Given the description of an element on the screen output the (x, y) to click on. 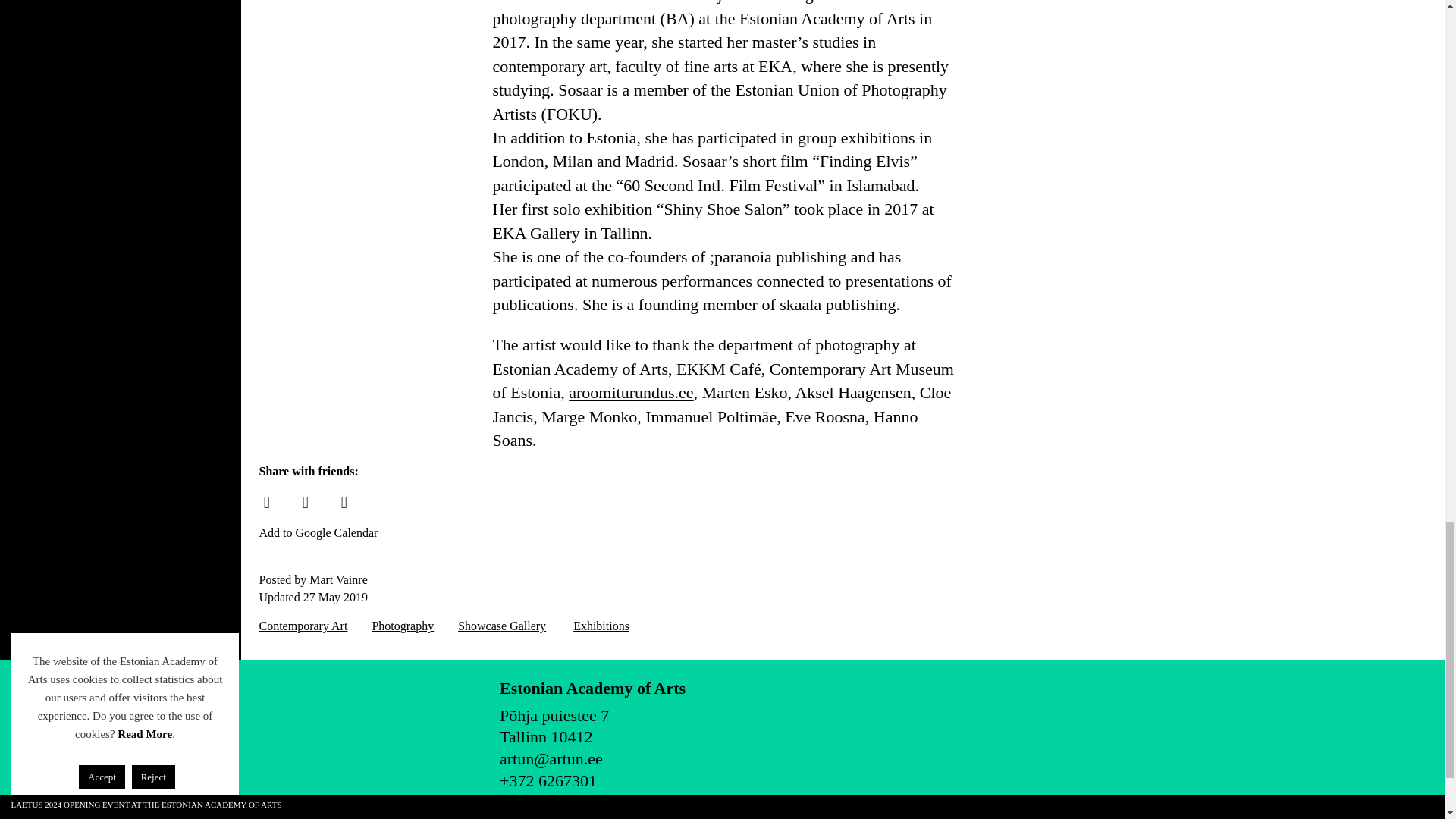
Share on Facebook (265, 503)
Share on Twitter (304, 503)
Share on LinkedIn (343, 503)
